Given the description of an element on the screen output the (x, y) to click on. 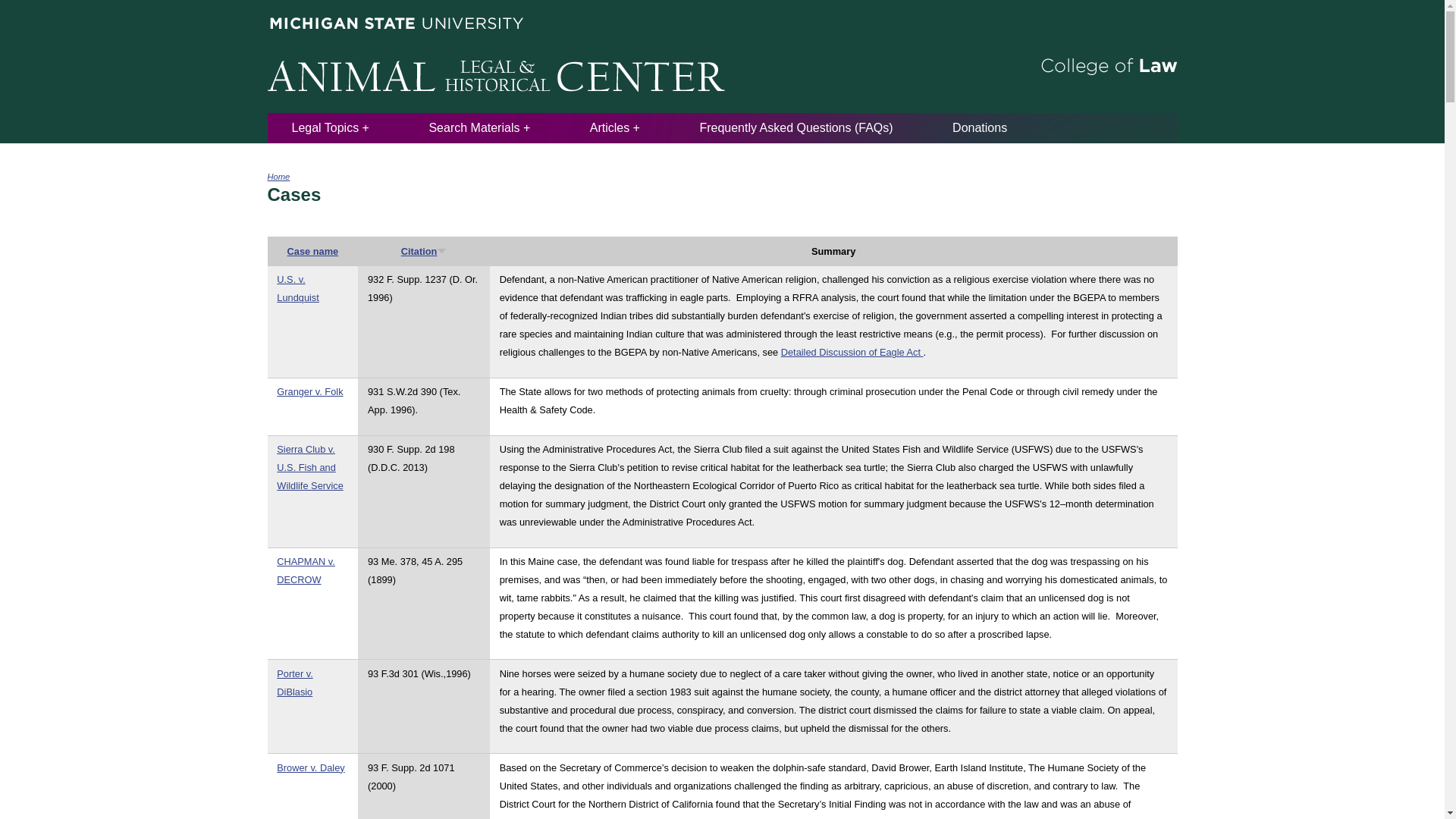
Sierra Club v. U.S. Fish and Wildlife Service (309, 467)
sort ascending (441, 249)
U.S. v. Lundquist (297, 288)
Case name (312, 251)
sort by Citation (423, 251)
Articles (615, 127)
CHAPMAN v. DECROW (305, 570)
Citation (423, 251)
Legal Topics (330, 127)
Brower v. Daley (309, 767)
Porter v. DiBlasio (294, 682)
Detailed Discussion of Eagle Act (851, 351)
Donations (979, 127)
Search Materials (479, 127)
sort by Case name (312, 251)
